Given the description of an element on the screen output the (x, y) to click on. 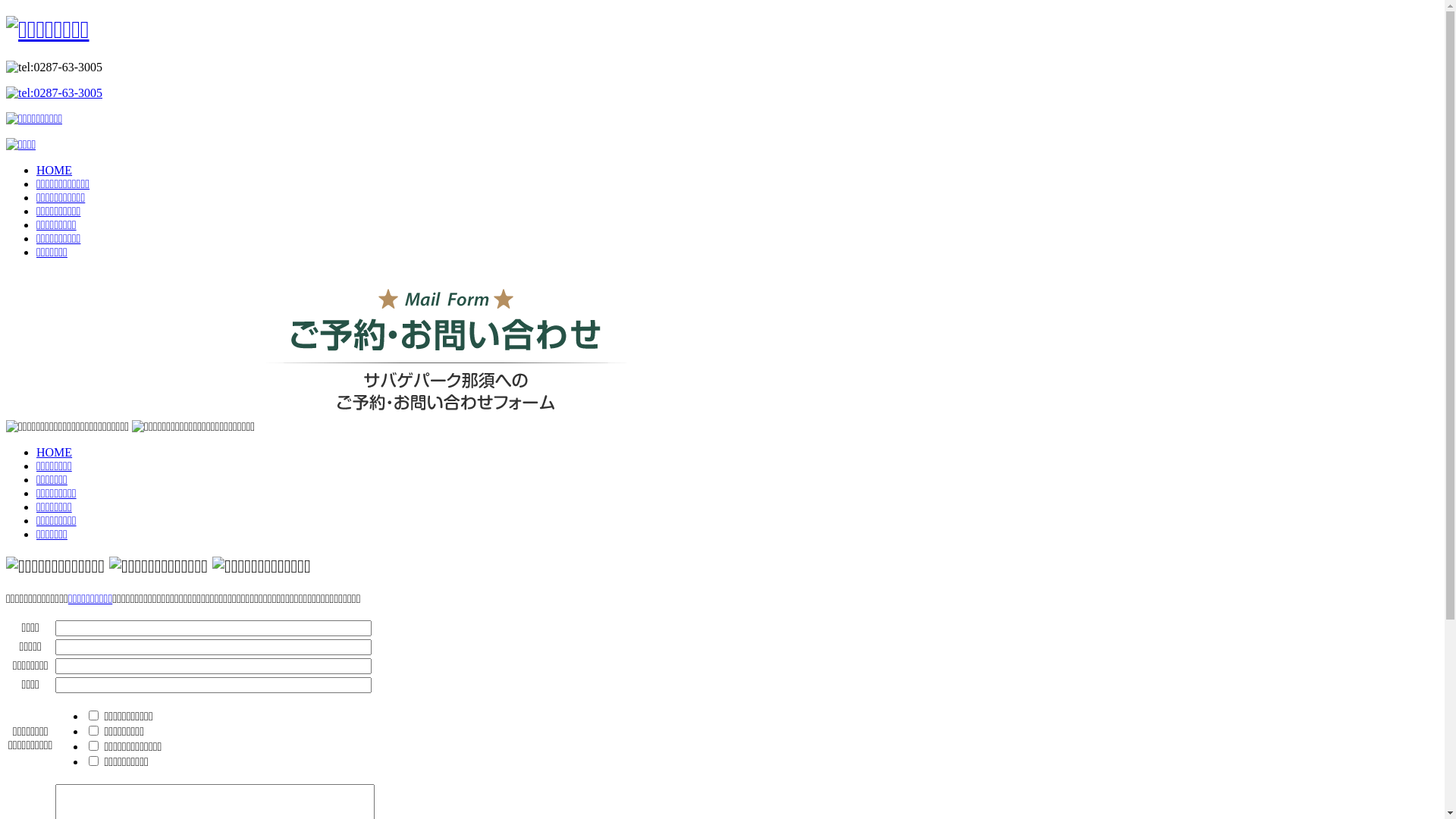
HOME Element type: text (54, 451)
HOME Element type: text (54, 169)
